Given the description of an element on the screen output the (x, y) to click on. 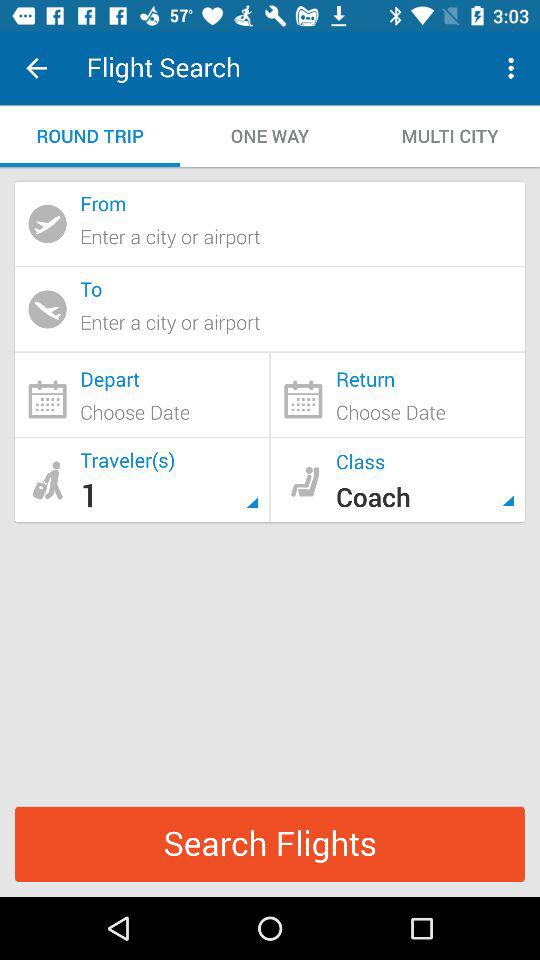
flip until one way icon (270, 136)
